Given the description of an element on the screen output the (x, y) to click on. 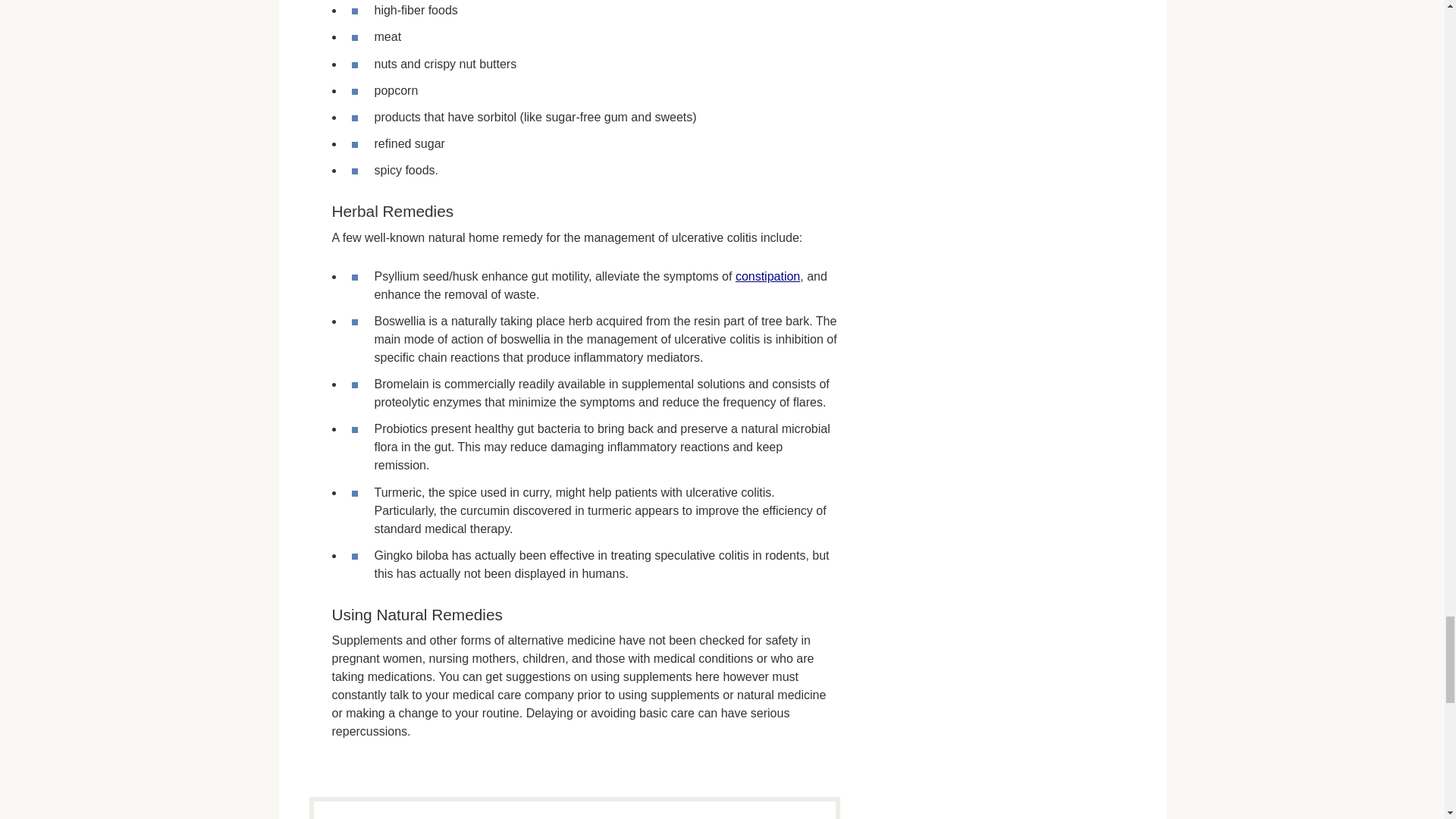
constipation (767, 276)
